Given the description of an element on the screen output the (x, y) to click on. 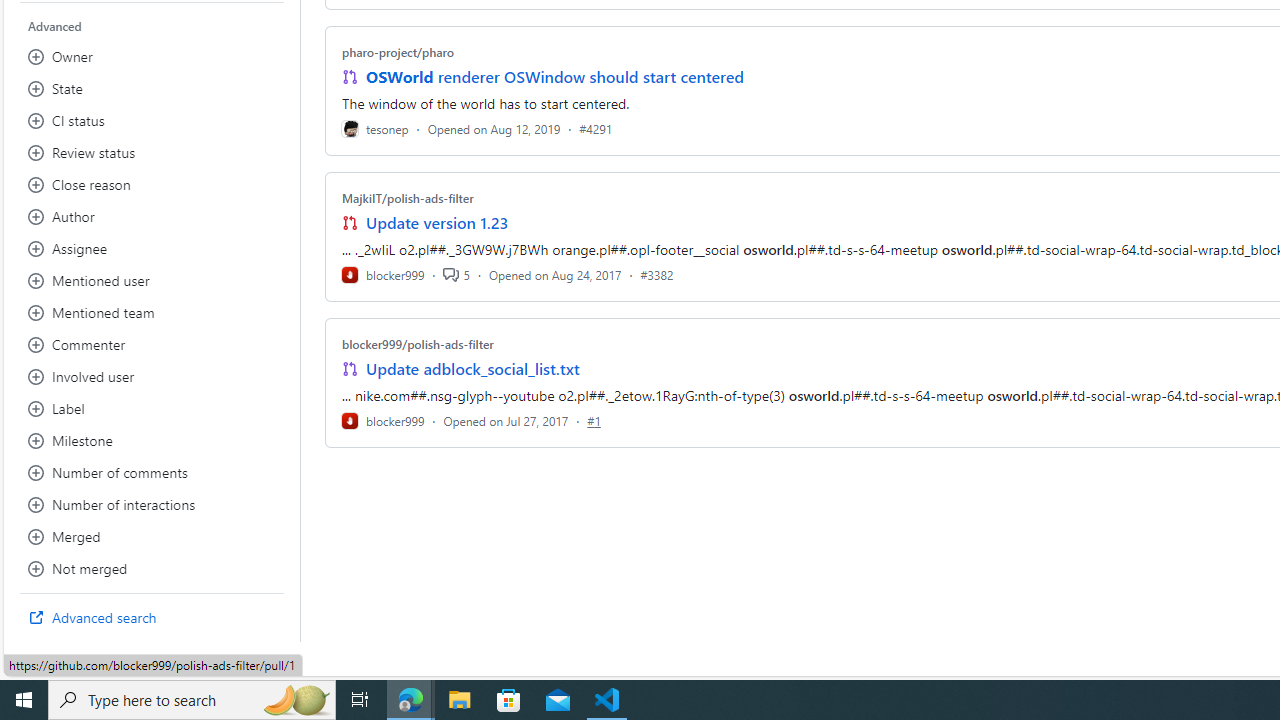
Update version 1.23 (437, 222)
pharo-project/pharo (397, 52)
